Given the description of an element on the screen output the (x, y) to click on. 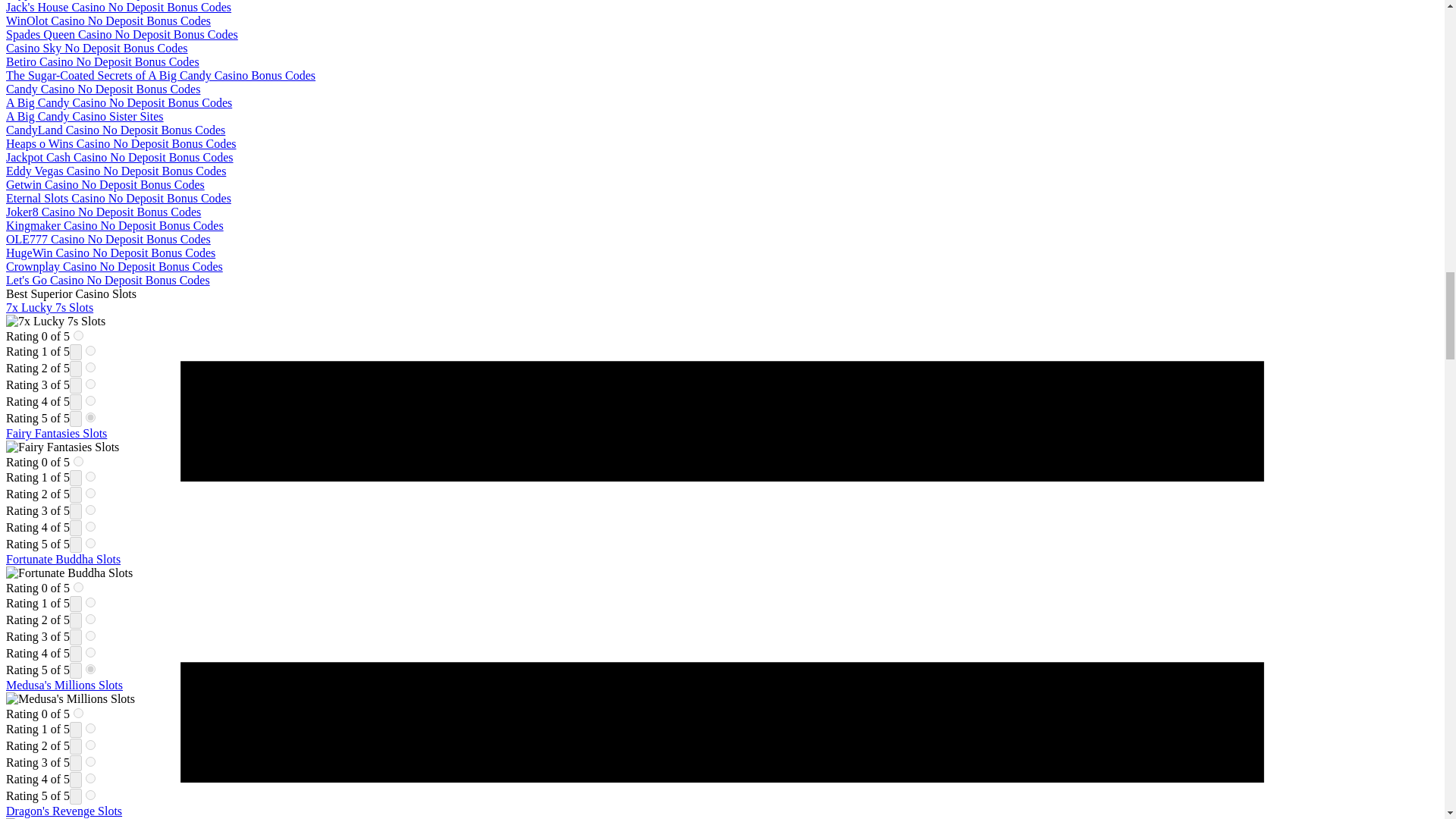
4 (90, 400)
3 (90, 510)
0 (78, 713)
1 (90, 350)
2 (90, 619)
1 (90, 476)
0 (78, 587)
5 (90, 542)
4 (90, 526)
0 (78, 335)
